Given the description of an element on the screen output the (x, y) to click on. 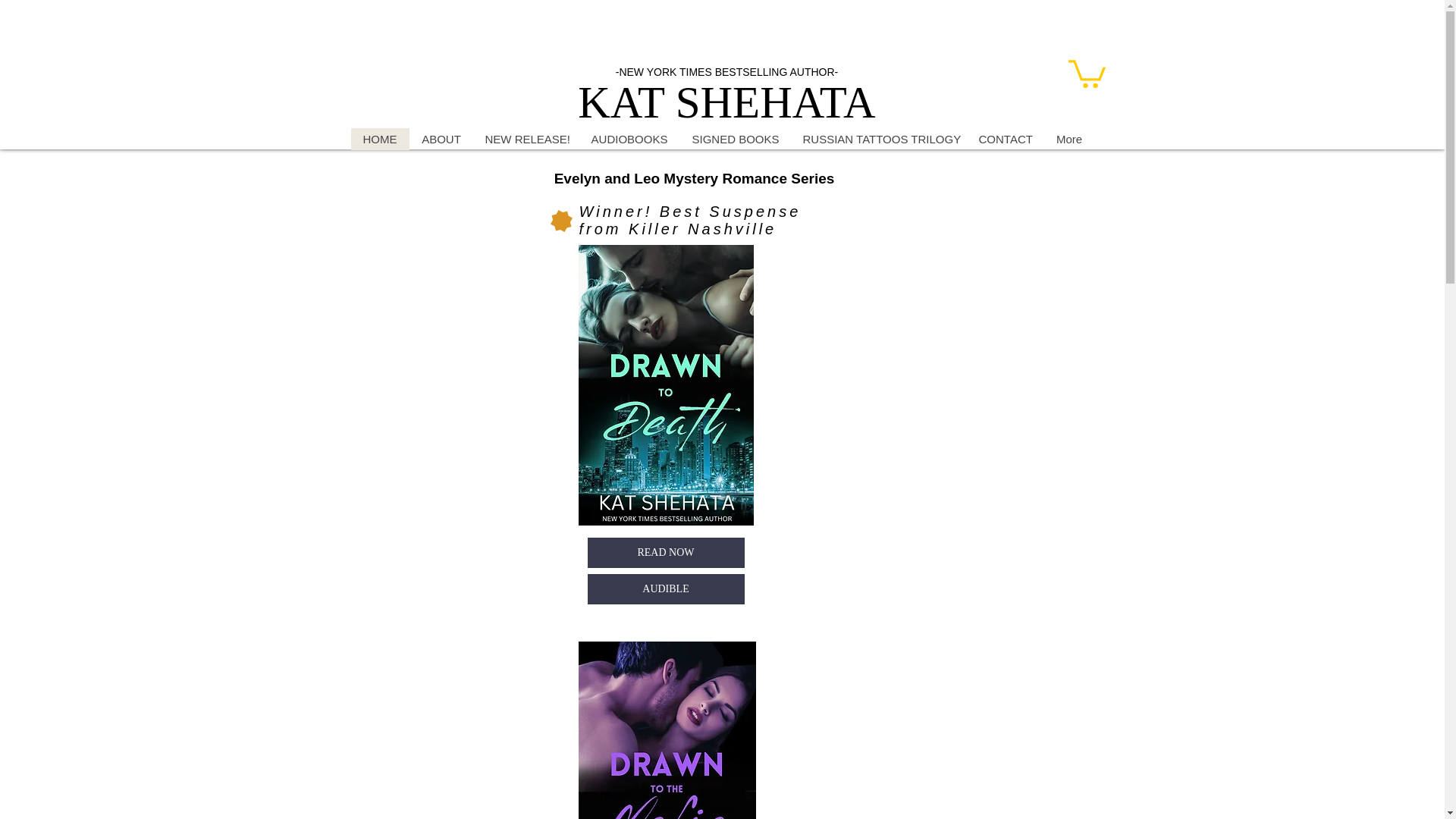
2023-0170 Kat Shehata b02 large.jpg (666, 730)
SIGNED BOOKS (734, 138)
RUSSIAN TATTOOS TRILOGY (878, 138)
CONTACT (1004, 138)
AUDIBLE (665, 589)
ABOUT (441, 138)
AUDIOBOOKS (628, 138)
HOME (379, 138)
NEW RELEASE! (525, 138)
KAT SHEHATA (726, 101)
READ NOW (665, 552)
